Given the description of an element on the screen output the (x, y) to click on. 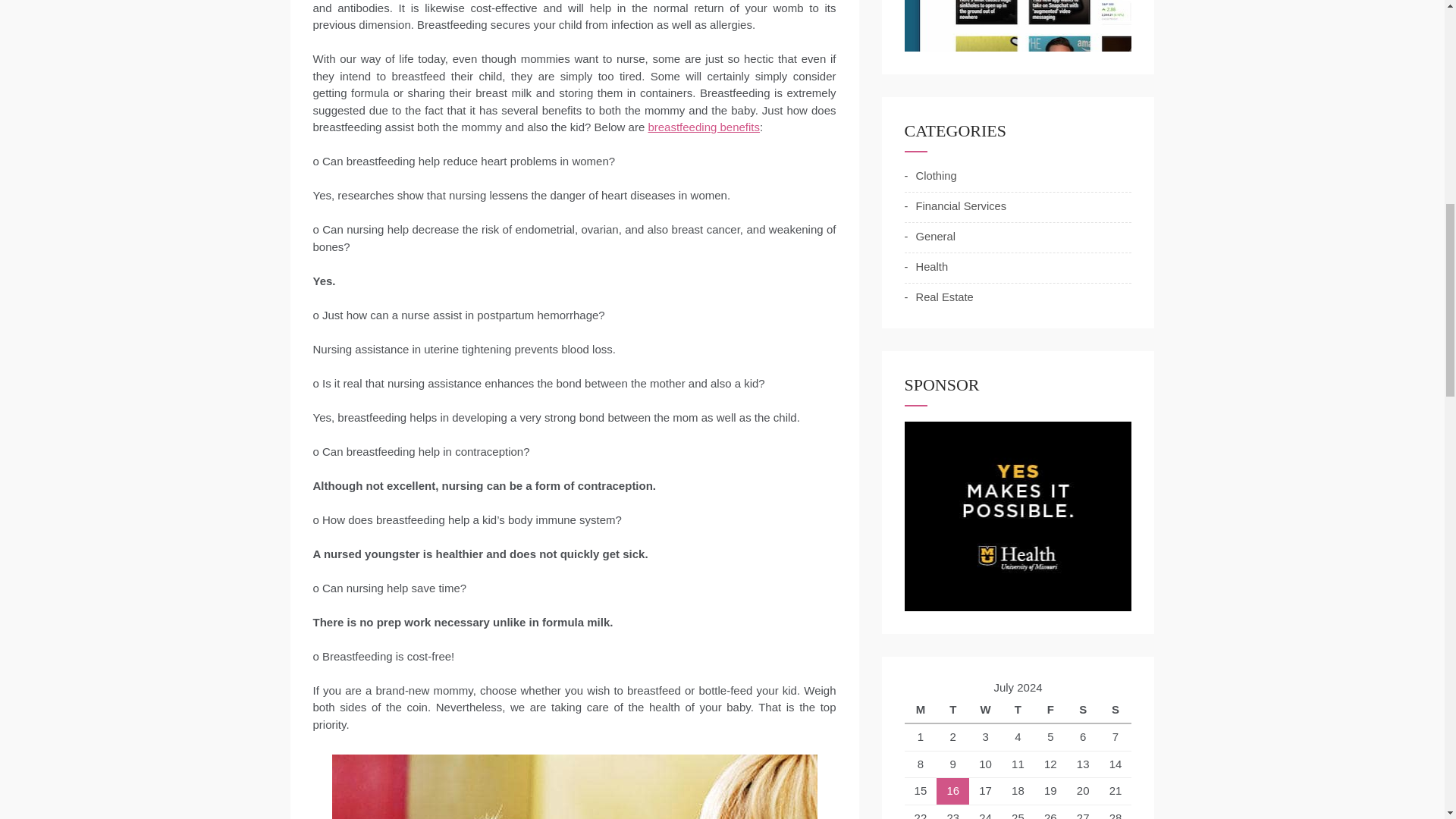
breastfeeding benefits (703, 126)
General (929, 236)
Financial Services (955, 206)
Real Estate (938, 297)
Thursday (1017, 709)
Wednesday (985, 709)
Health (925, 266)
Friday (1050, 709)
Sunday (1115, 709)
Saturday (1083, 709)
Monday (920, 709)
Clothing (930, 175)
Tuesday (952, 709)
